Given the description of an element on the screen output the (x, y) to click on. 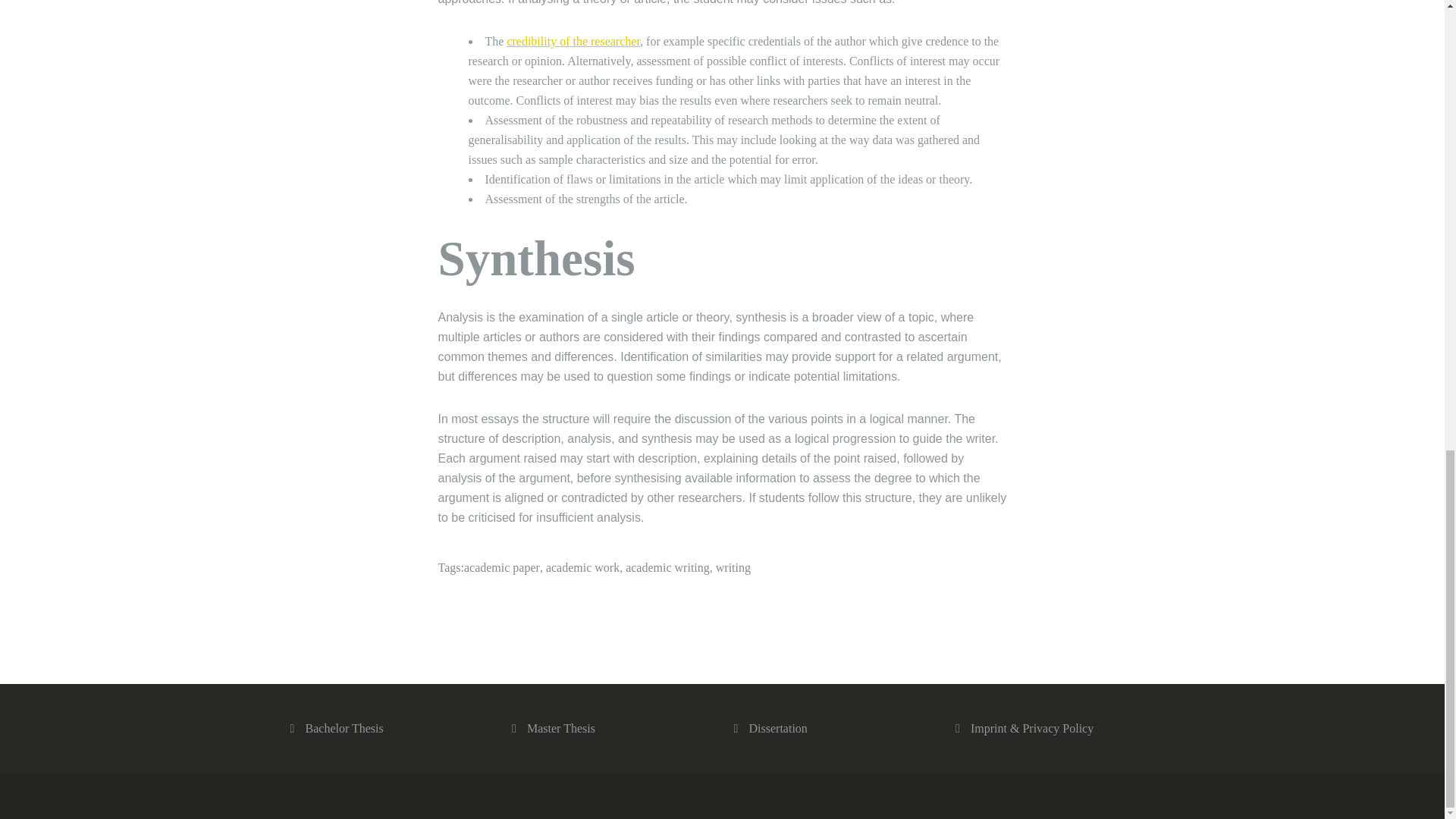
Dissertation (778, 727)
Bachelor Thesis (343, 727)
academic work (583, 567)
Master Thesis (561, 727)
Master Thesis (561, 727)
academic paper (502, 567)
Dissertation (778, 727)
Bachelor Thesis (343, 727)
credibility of the researcher (573, 41)
writing (733, 567)
academic writing (668, 567)
